Given the description of an element on the screen output the (x, y) to click on. 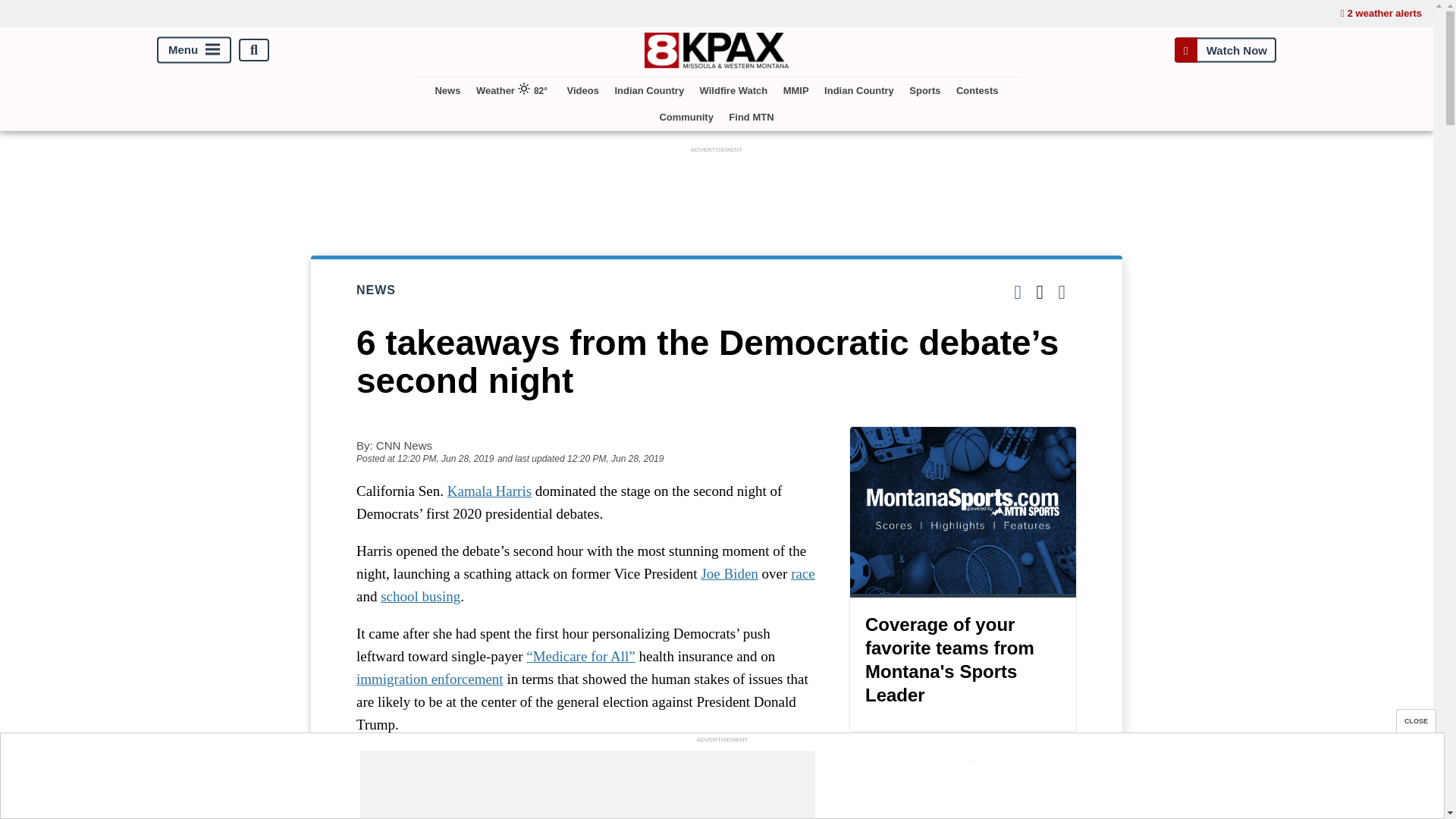
Watch Now (1224, 50)
Menu (194, 49)
3rd party ad content (721, 780)
3rd party ad content (716, 191)
3rd party ad content (962, 794)
